Given the description of an element on the screen output the (x, y) to click on. 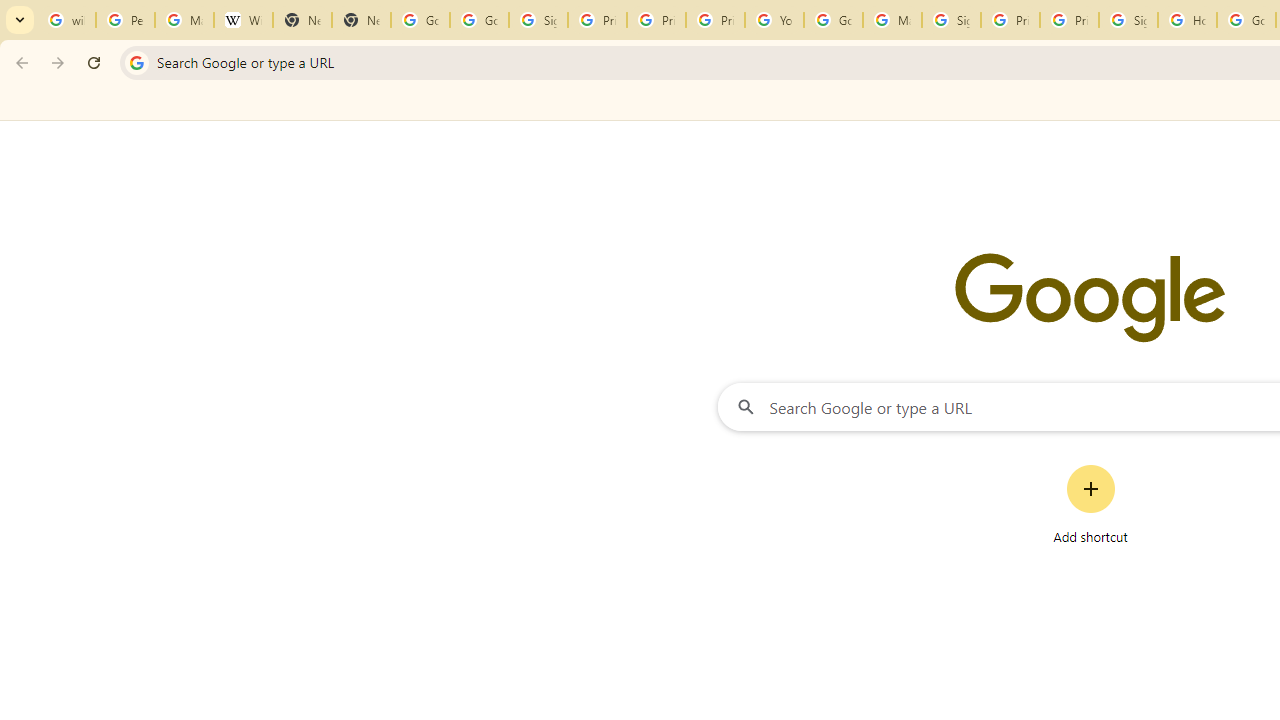
Sign in - Google Accounts (538, 20)
Google Drive: Sign-in (479, 20)
Personalization & Google Search results - Google Search Help (125, 20)
Search icon (136, 62)
YouTube (774, 20)
New Tab (301, 20)
Google Account Help (832, 20)
Sign in - Google Accounts (1128, 20)
